Given the description of an element on the screen output the (x, y) to click on. 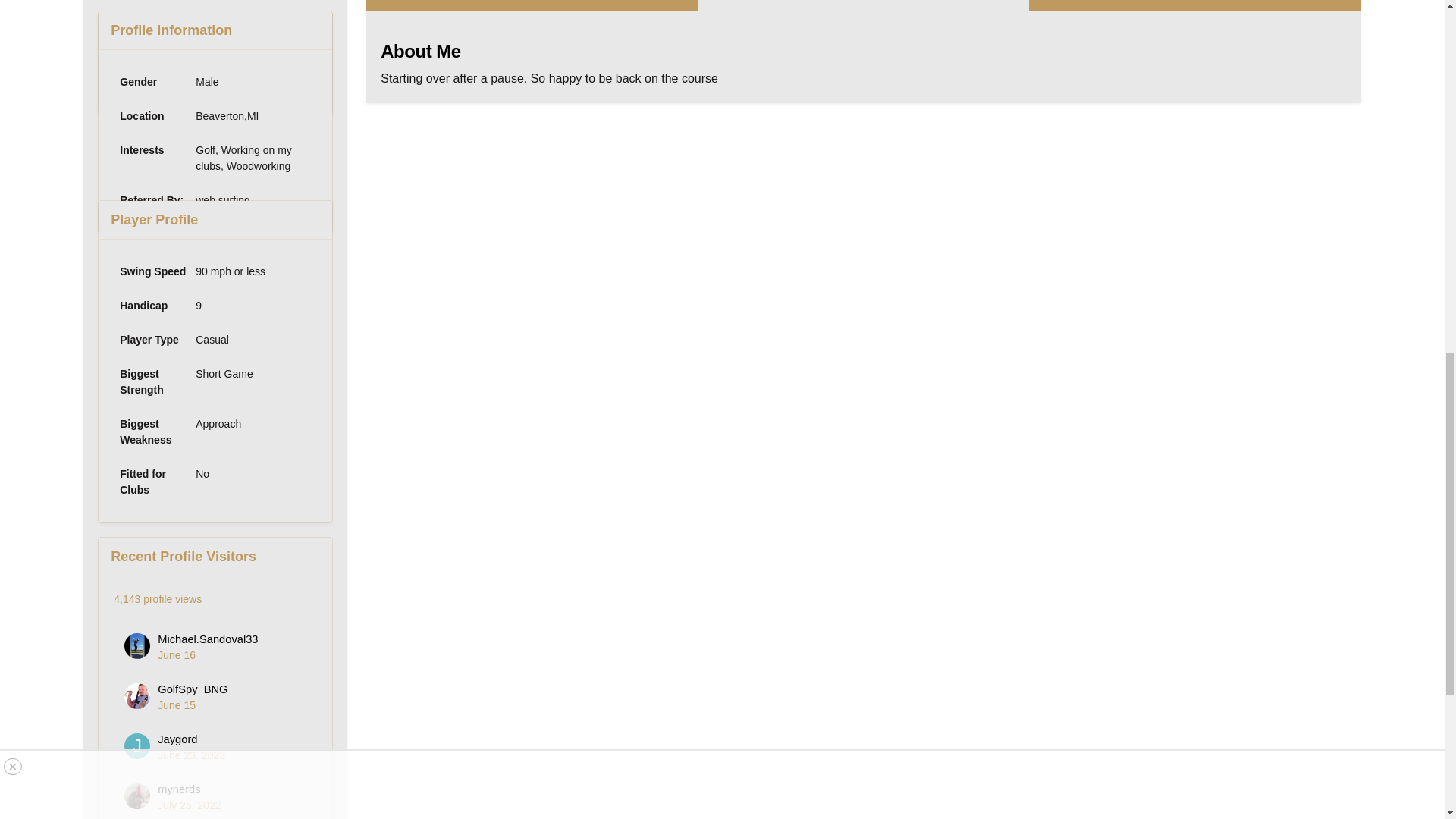
Go to Jaygord's profile (176, 739)
Go to Michael.Sandoval33's profile (207, 639)
Go to Jaygord's profile (136, 746)
Go to Michael.Sandoval33's profile (136, 646)
